Given the description of an element on the screen output the (x, y) to click on. 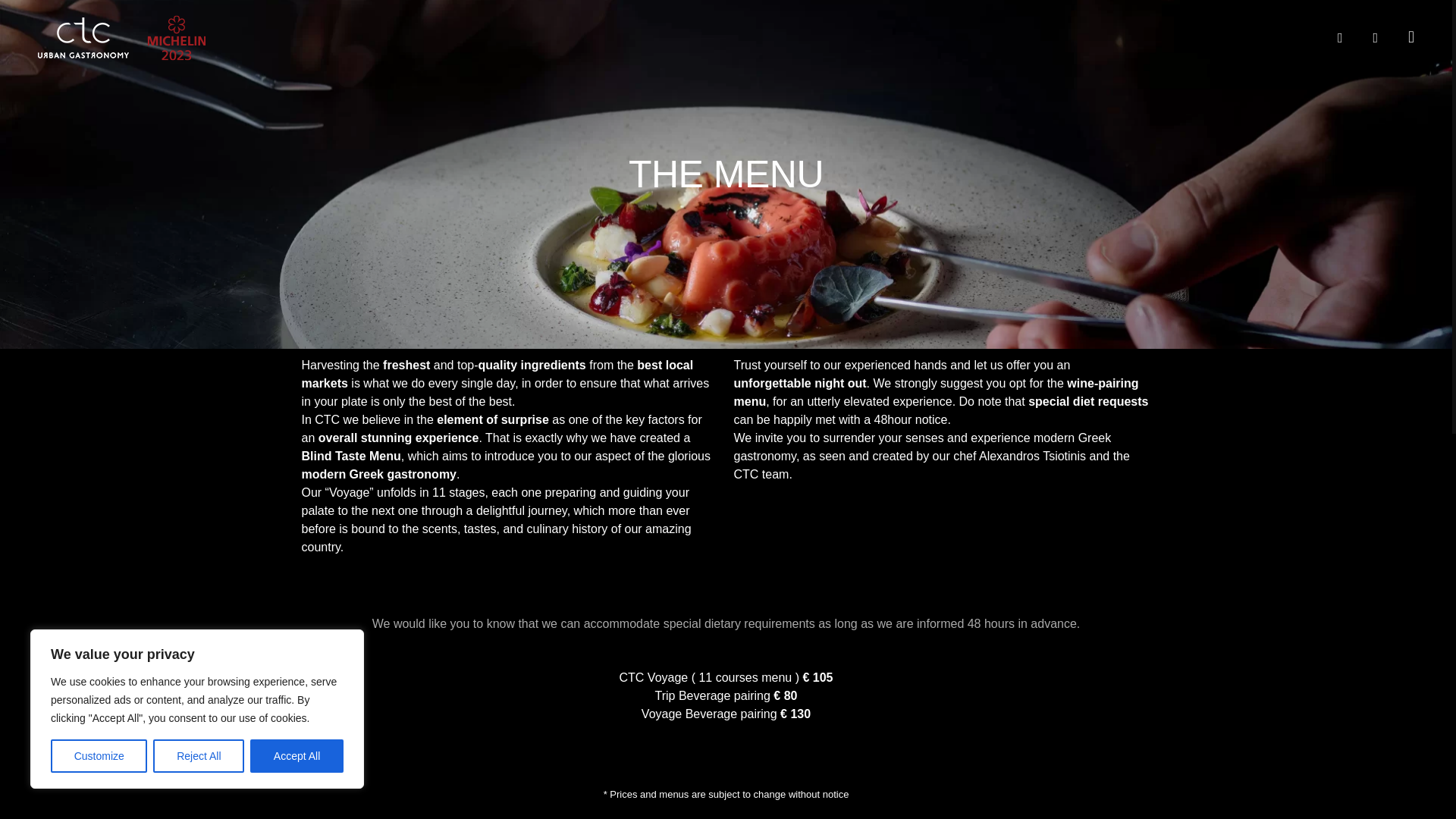
Accept All (296, 756)
Reject All (198, 756)
Customize (98, 756)
